Given the description of an element on the screen output the (x, y) to click on. 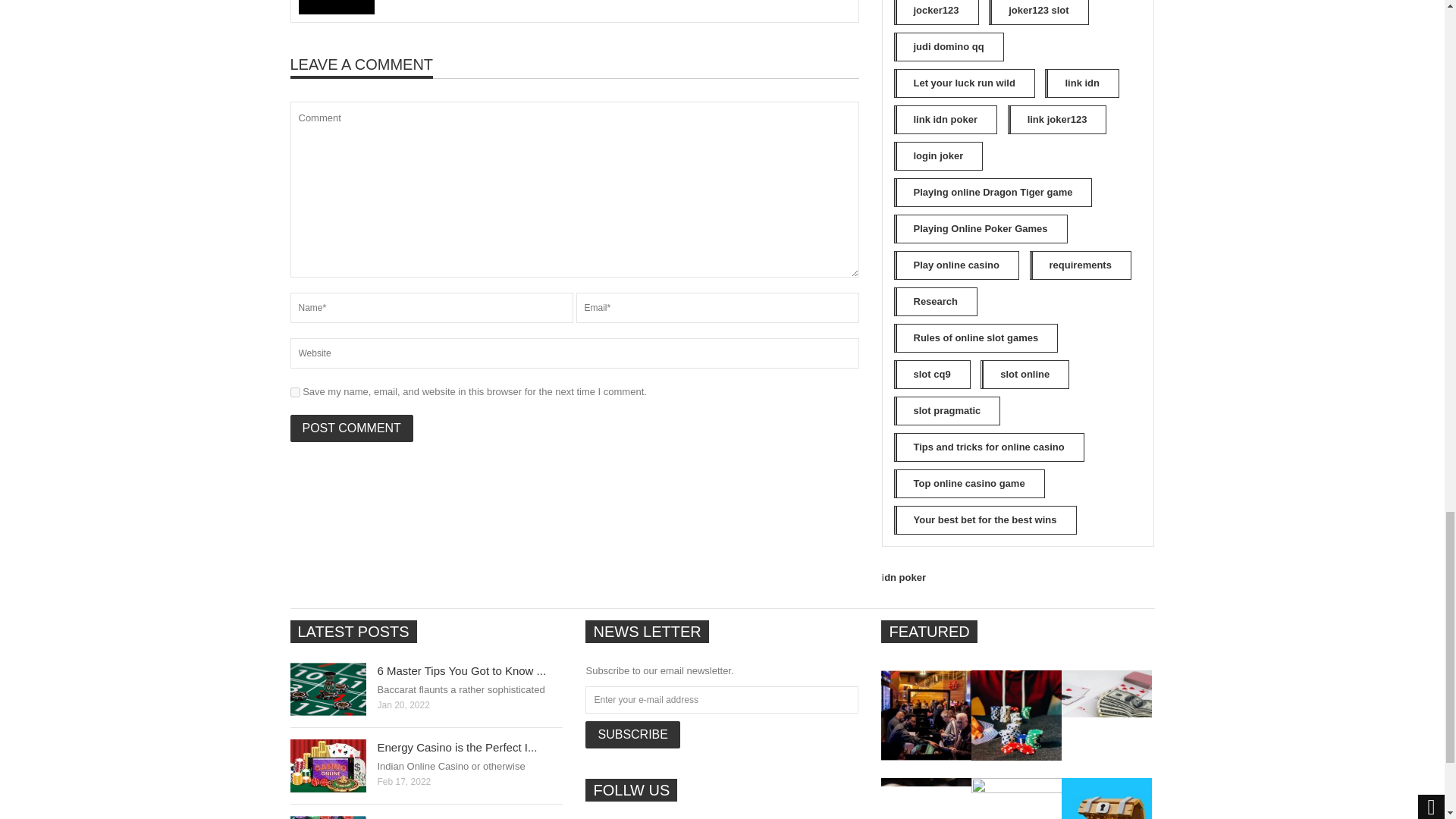
Post Comment (350, 428)
yes (294, 392)
Subscribe (632, 734)
Post Comment (350, 428)
Enter your e-mail address (722, 699)
